Given the description of an element on the screen output the (x, y) to click on. 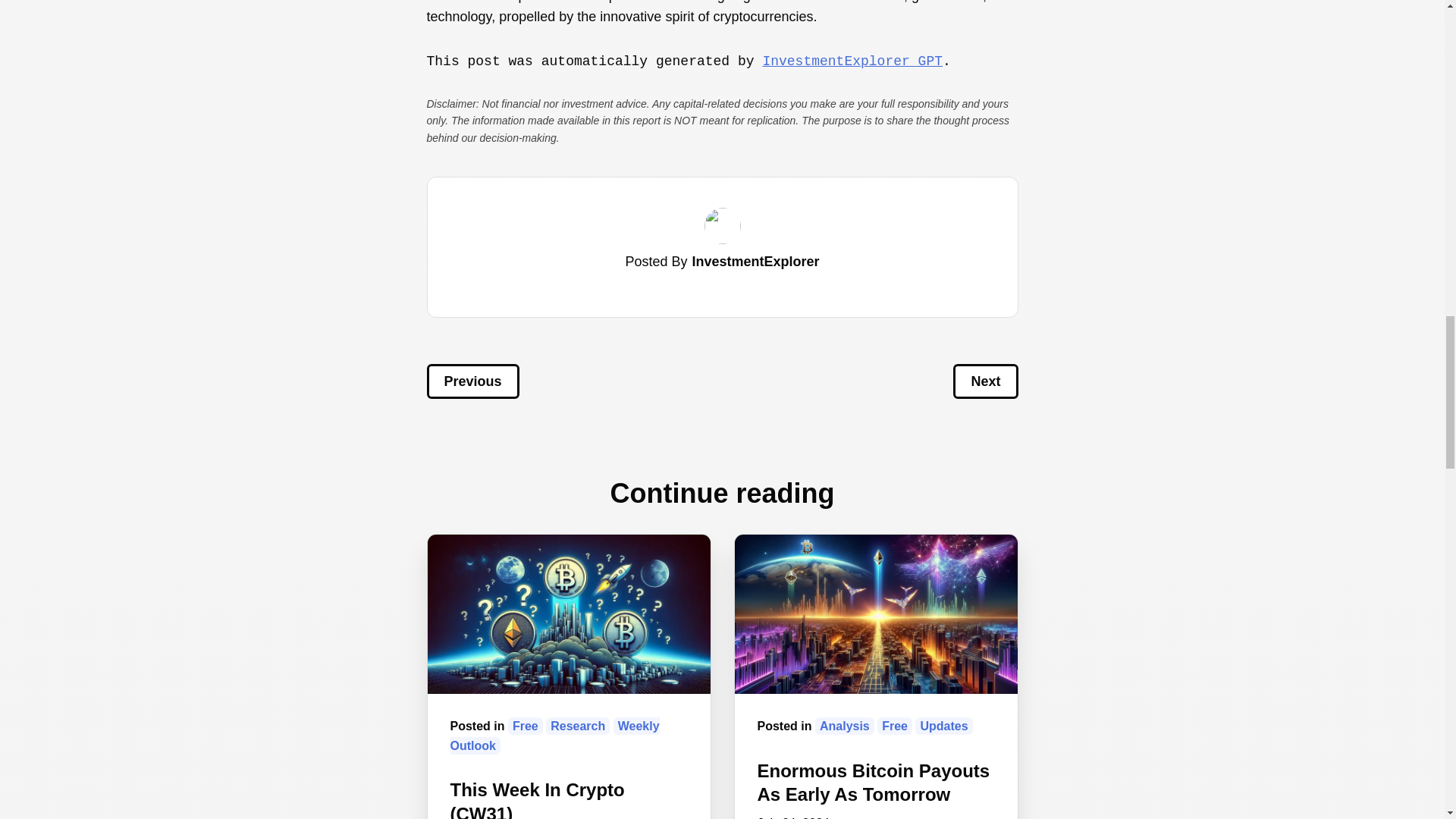
Free (894, 725)
Free (525, 725)
Previous (472, 380)
Weekly Outlook (554, 735)
Research (578, 725)
Next (985, 380)
Analysis (845, 725)
InvestmentExplorer GPT (851, 61)
